Given the description of an element on the screen output the (x, y) to click on. 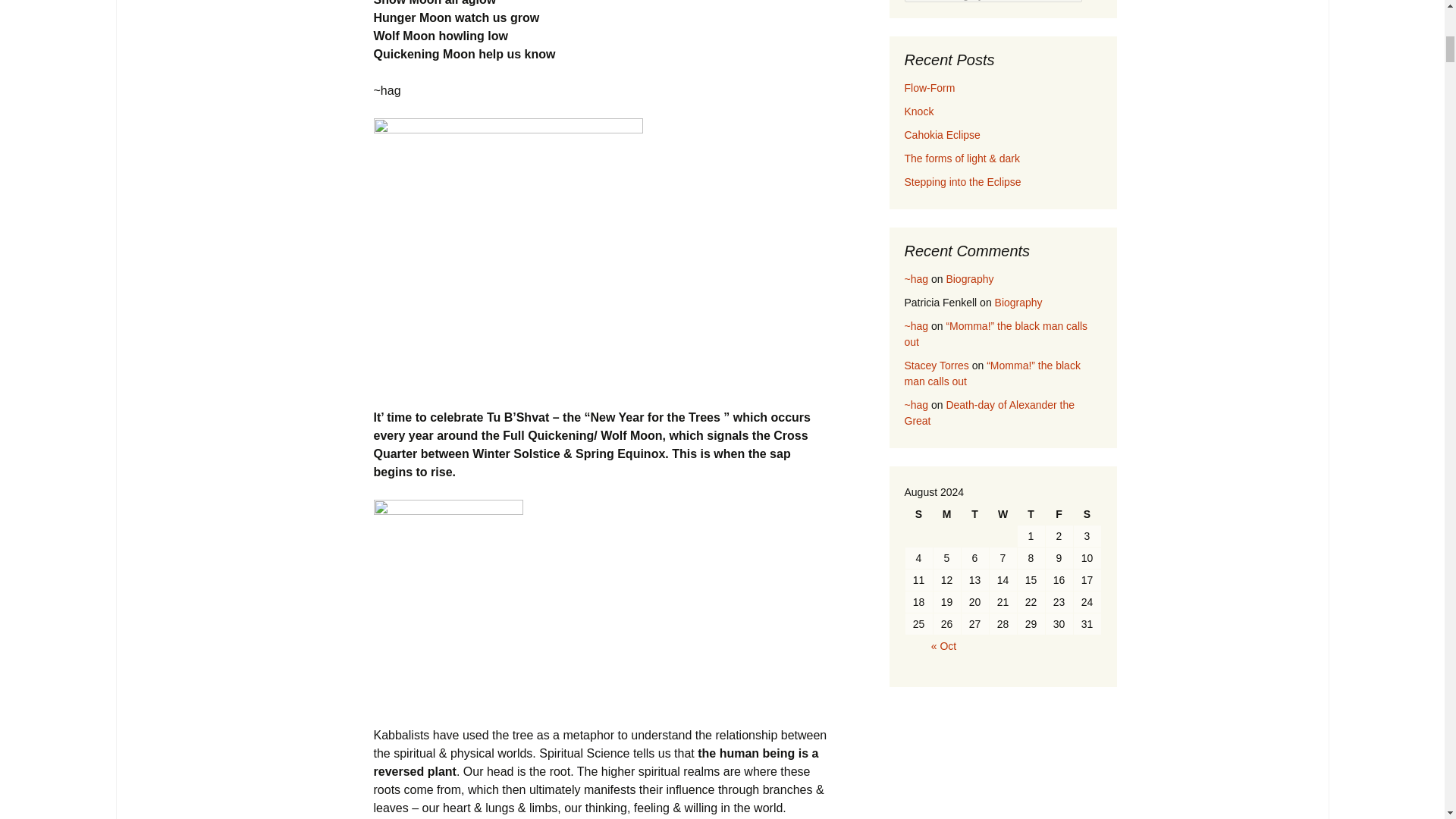
Wednesday (1002, 513)
Sunday (919, 513)
Tuesday (974, 513)
Friday (1058, 513)
Saturday (1087, 513)
Monday (946, 513)
Thursday (1031, 513)
